Given the description of an element on the screen output the (x, y) to click on. 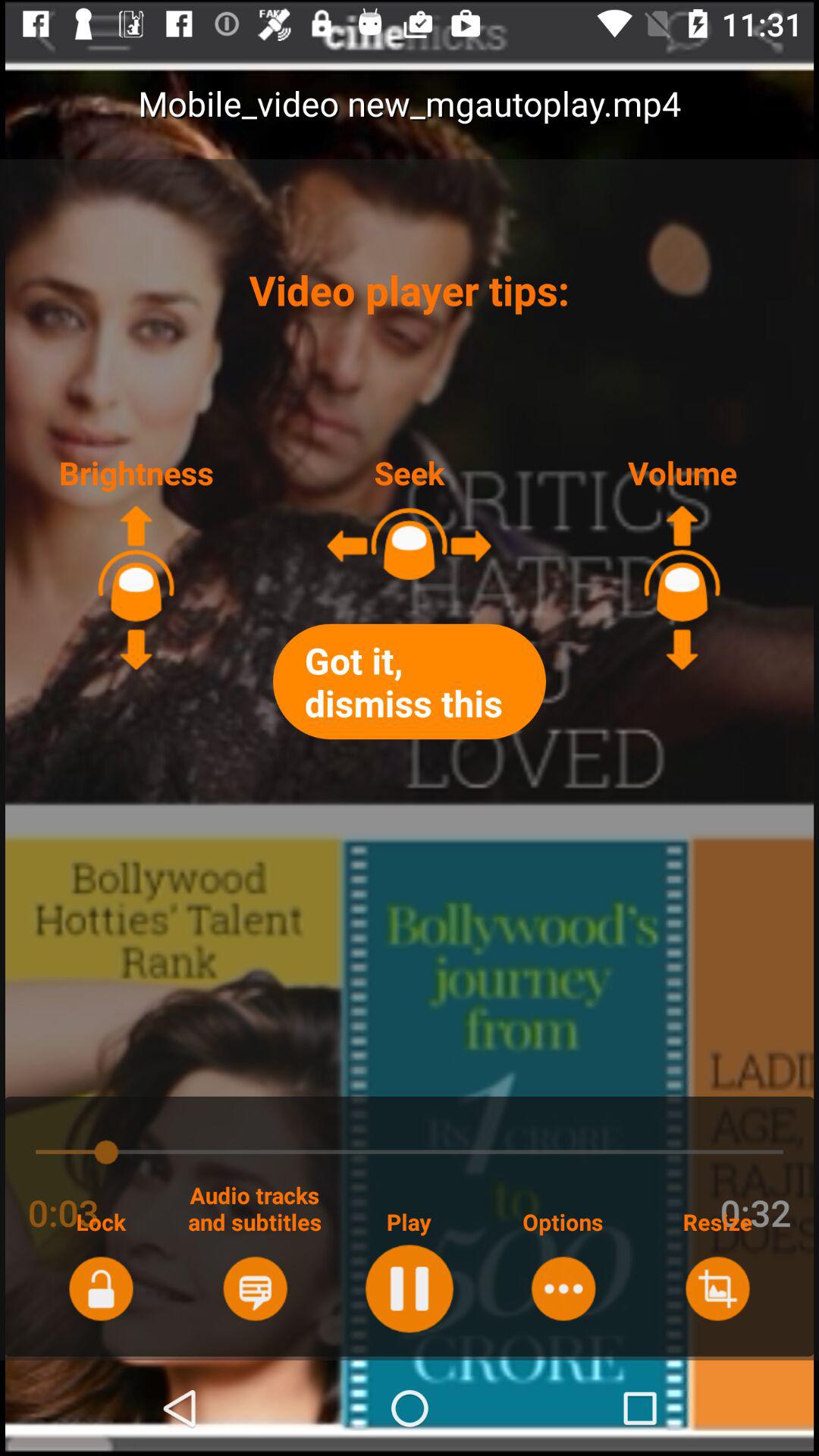
toggle lock (100, 1288)
